Given the description of an element on the screen output the (x, y) to click on. 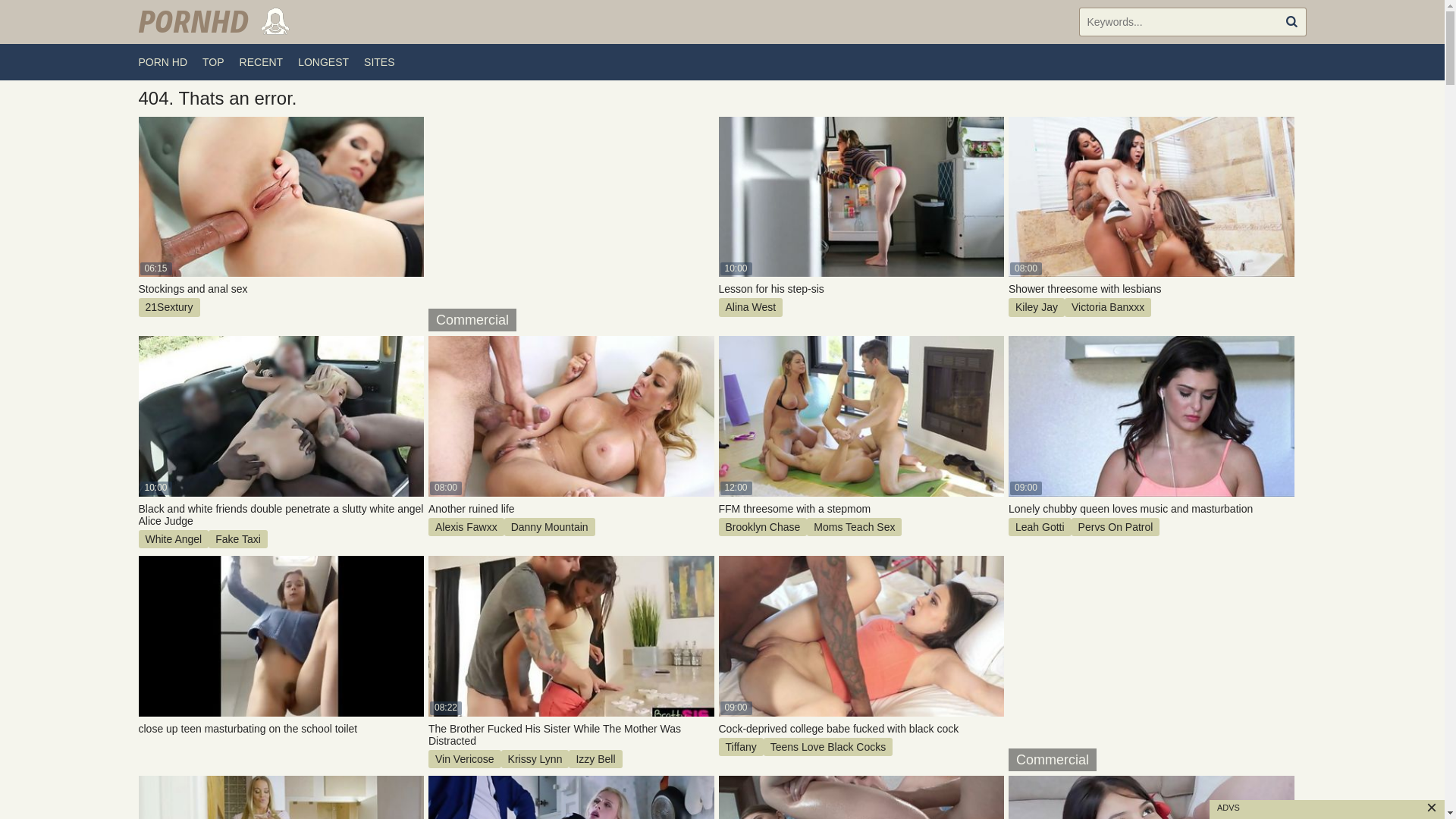
Fake Taxi Element type: text (237, 539)
Izzy Bell Element type: text (594, 758)
Vin Vericose Element type: text (464, 758)
SITES Element type: text (379, 62)
LONGEST Element type: text (323, 62)
Porn HD Element type: hover (213, 21)
Cock-deprived college babe fucked with black cock Element type: text (861, 728)
Moms Teach Sex Element type: text (853, 526)
Krissy Lynn Element type: text (535, 758)
Teens Love Black Cocks Element type: text (828, 746)
Kiley Jay Element type: text (1036, 307)
Danny Mountain Element type: text (549, 526)
Another ruined life Element type: text (571, 508)
Lesson for his step-sis Element type: text (861, 288)
Alexis Fawxx Element type: text (466, 526)
Brooklyn Chase Element type: text (762, 526)
Victoria Banxxx Element type: text (1107, 307)
TOP Element type: text (213, 62)
RECENT Element type: text (261, 62)
White Angel Element type: text (173, 539)
Alina West Element type: text (750, 307)
FFM threesome with a stepmom Element type: text (861, 508)
Shower threesome with lesbians Element type: text (1151, 288)
Pervs On Patrol Element type: text (1115, 526)
Tiffany Element type: text (740, 746)
Leah Gotti Element type: text (1039, 526)
21Sextury Element type: text (168, 307)
PORN HD Element type: text (162, 62)
Lonely chubby queen loves music and masturbation Element type: text (1151, 508)
close up teen masturbating on the school toilet Element type: text (280, 728)
Stockings and anal sex Element type: text (280, 288)
